Given the description of an element on the screen output the (x, y) to click on. 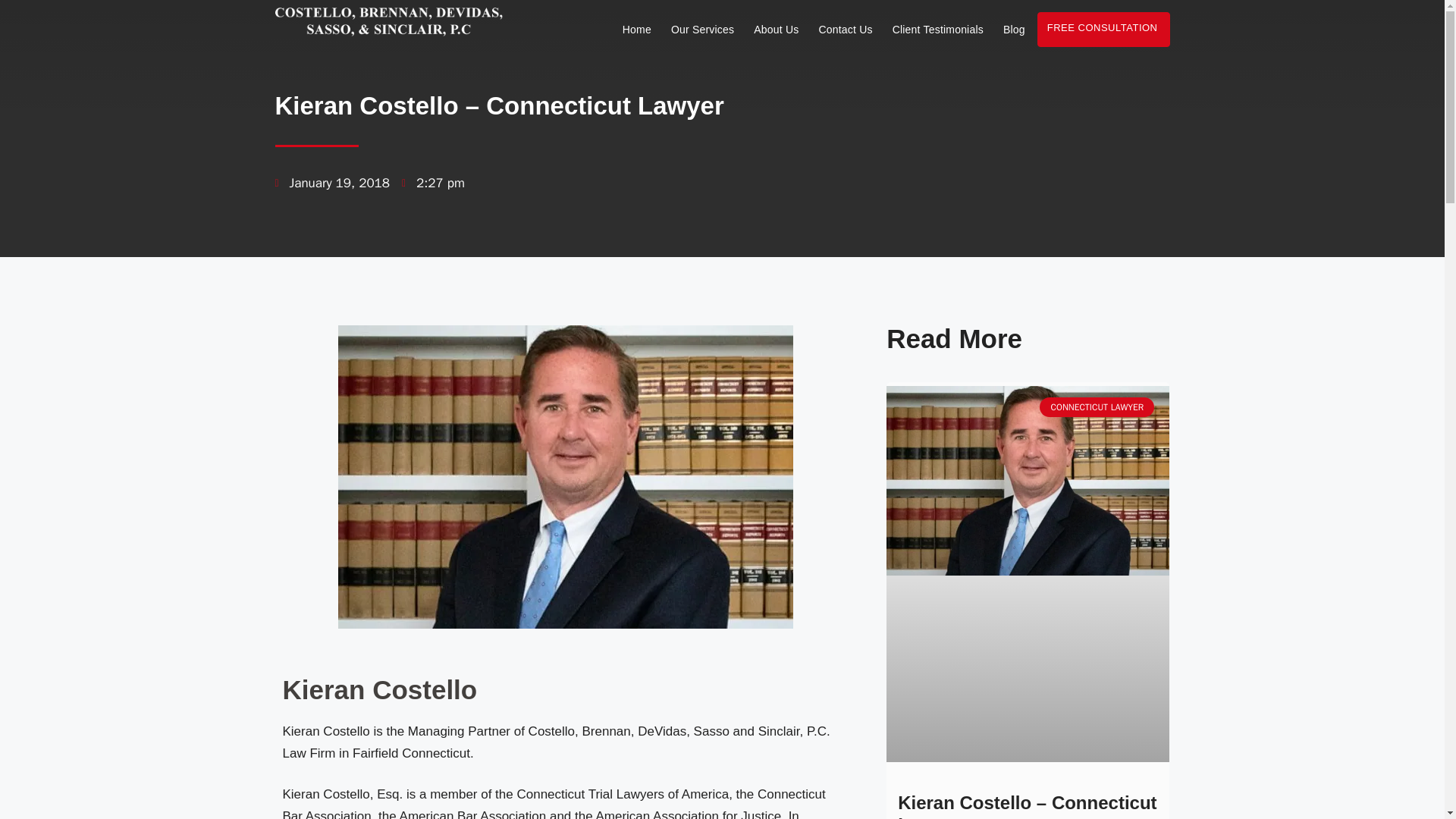
Contact Us (844, 29)
FREE CONSULTATION (1103, 29)
About Us (776, 29)
Blog (1013, 29)
Client Testimonials (938, 29)
Home (636, 29)
Our Services (702, 29)
